Given the description of an element on the screen output the (x, y) to click on. 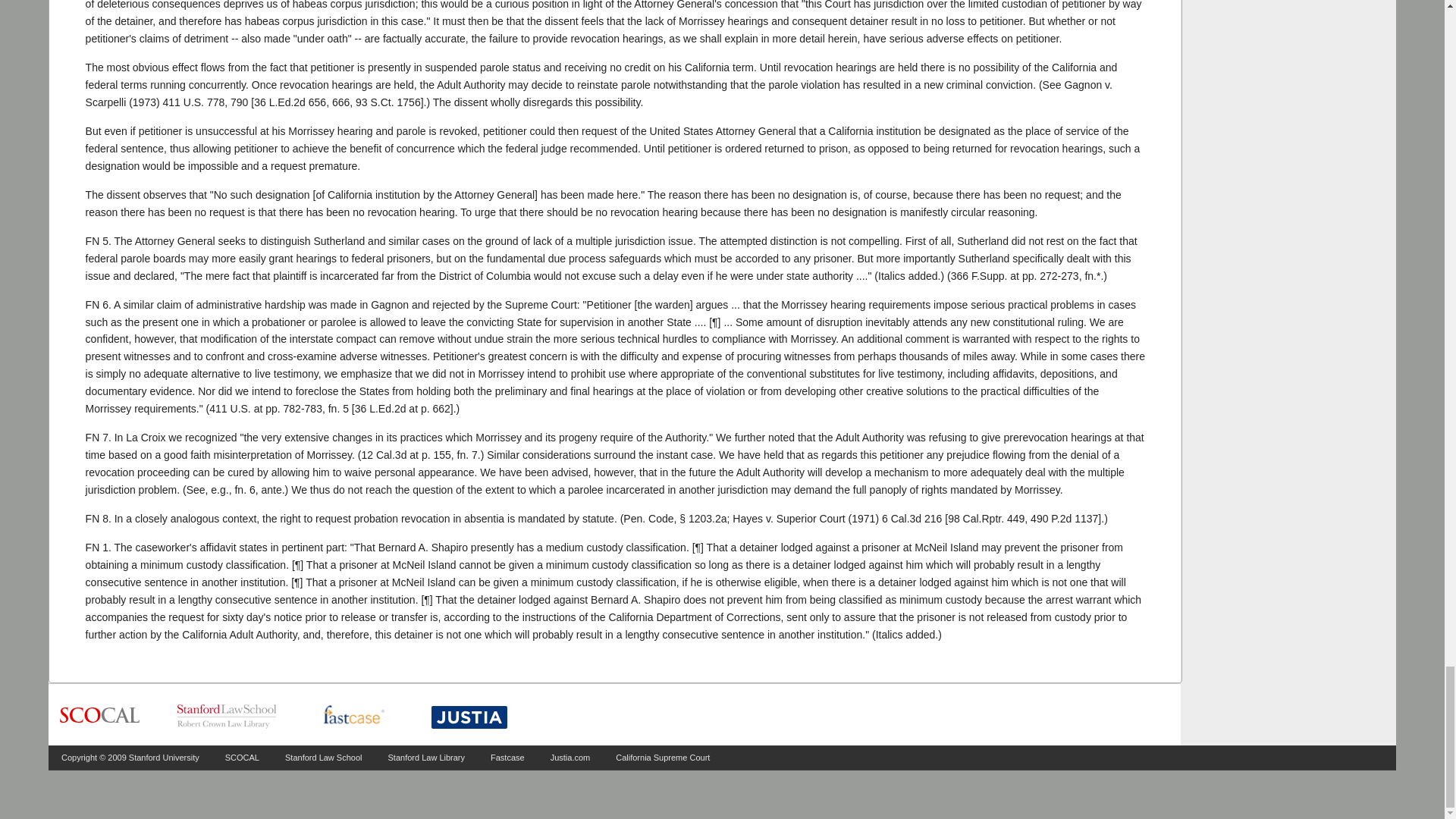
fastcase (353, 716)
Justia (468, 716)
Hayes v. Superior Court (912, 518)
Supreme Court of California (99, 715)
Stanford Law School - Robert Crown Law Library (226, 715)
